Given the description of an element on the screen output the (x, y) to click on. 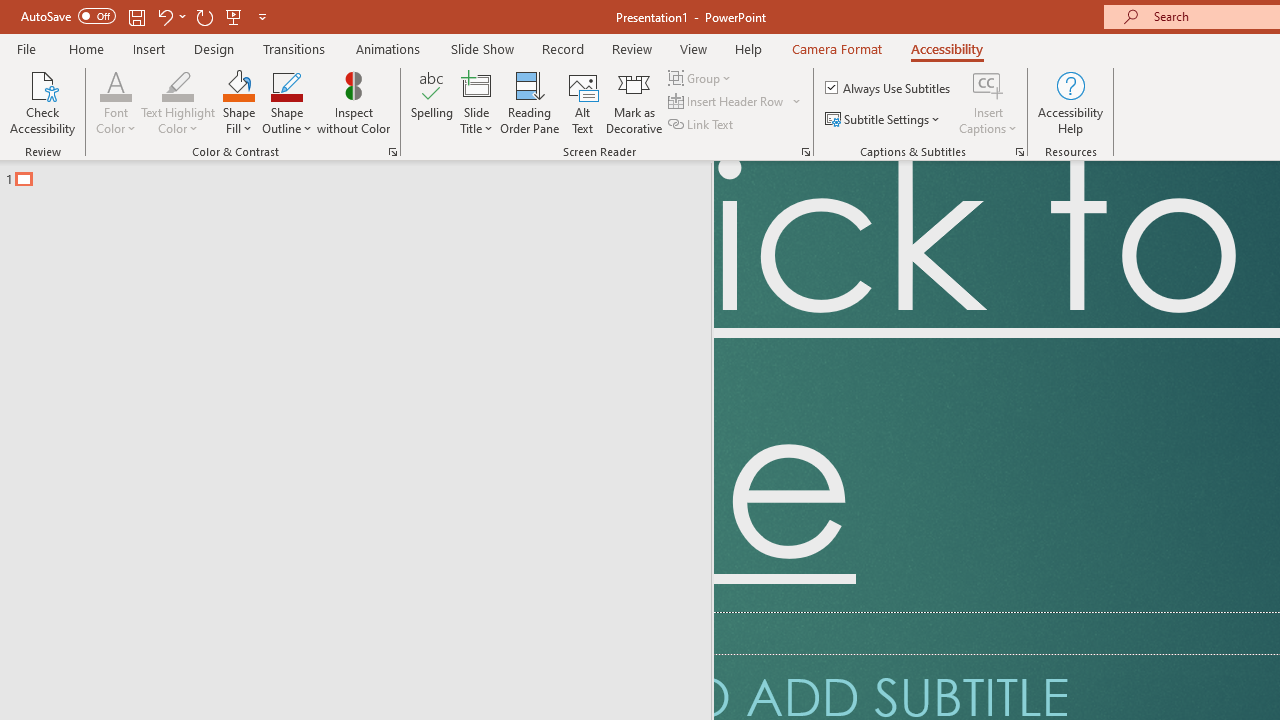
Slide Title (476, 84)
Link Text (702, 124)
Shape Outline (286, 102)
AutoSave (68, 16)
Captions & Subtitles (1019, 151)
Subtitle Settings (884, 119)
Transitions (294, 48)
Shape Fill Orange, Accent 2 (238, 84)
File Tab (26, 48)
Shape Fill (238, 102)
Group (701, 78)
Save (136, 15)
Review (631, 48)
Alt Text (582, 102)
